Given the description of an element on the screen output the (x, y) to click on. 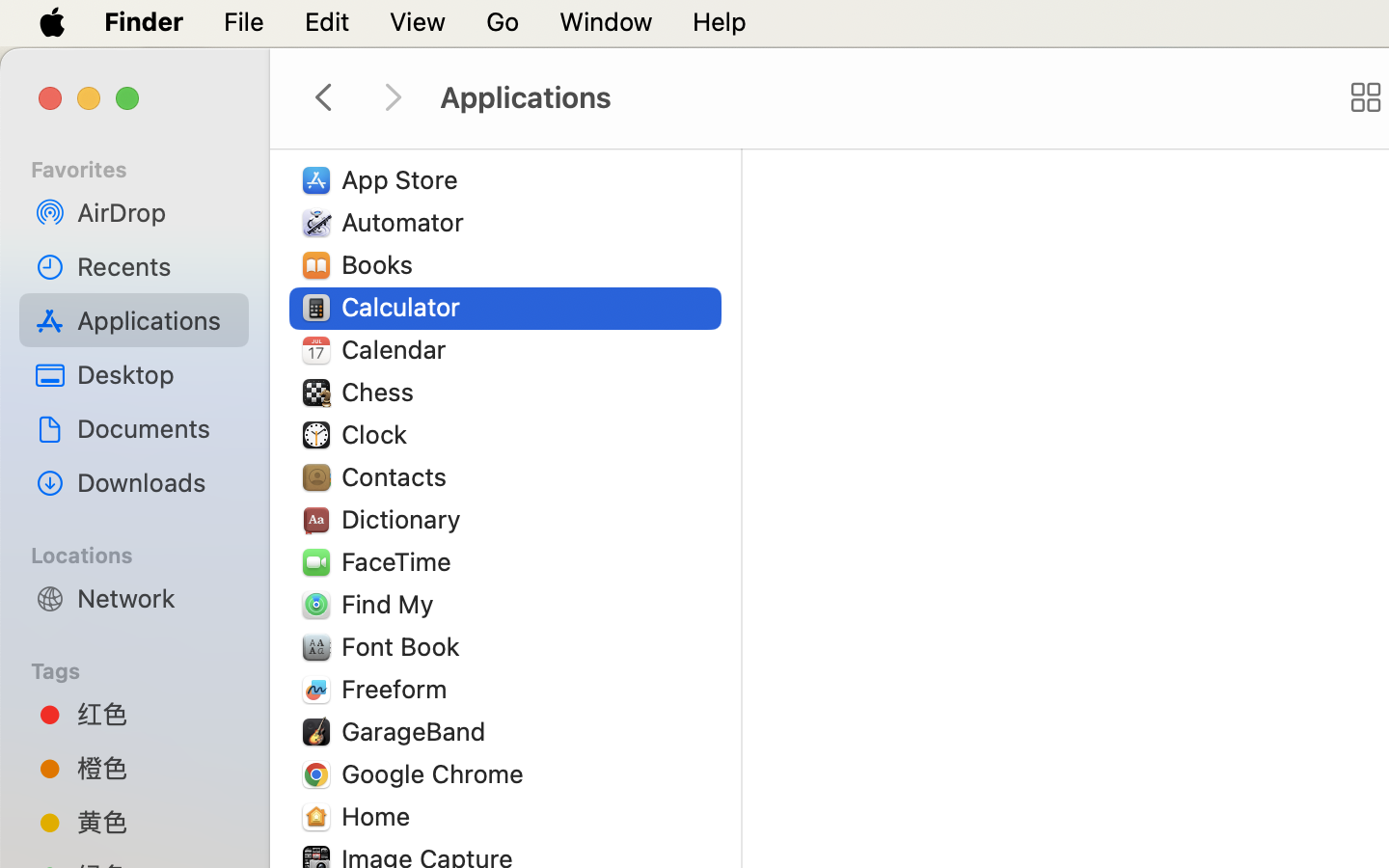
Automator Element type: AXTextField (406, 221)
Recents Element type: AXStaticText (155, 265)
GarageBand Element type: AXTextField (417, 730)
橙色 Element type: AXStaticText (155, 767)
Calculator Element type: AXTextField (404, 306)
